Given the description of an element on the screen output the (x, y) to click on. 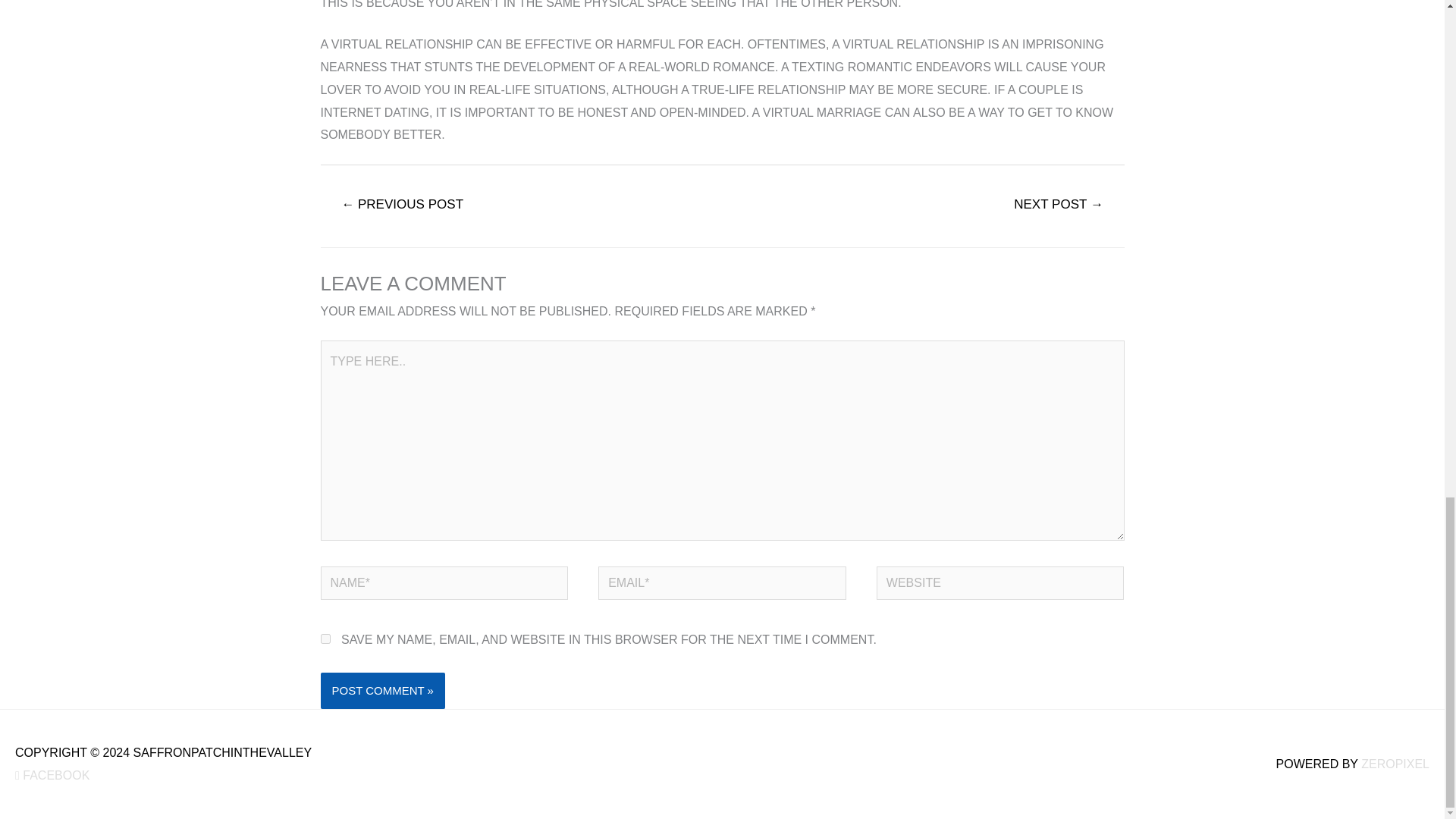
yes (325, 638)
FACEBOOK (51, 775)
ZEROPIXEL (1395, 763)
